Given the description of an element on the screen output the (x, y) to click on. 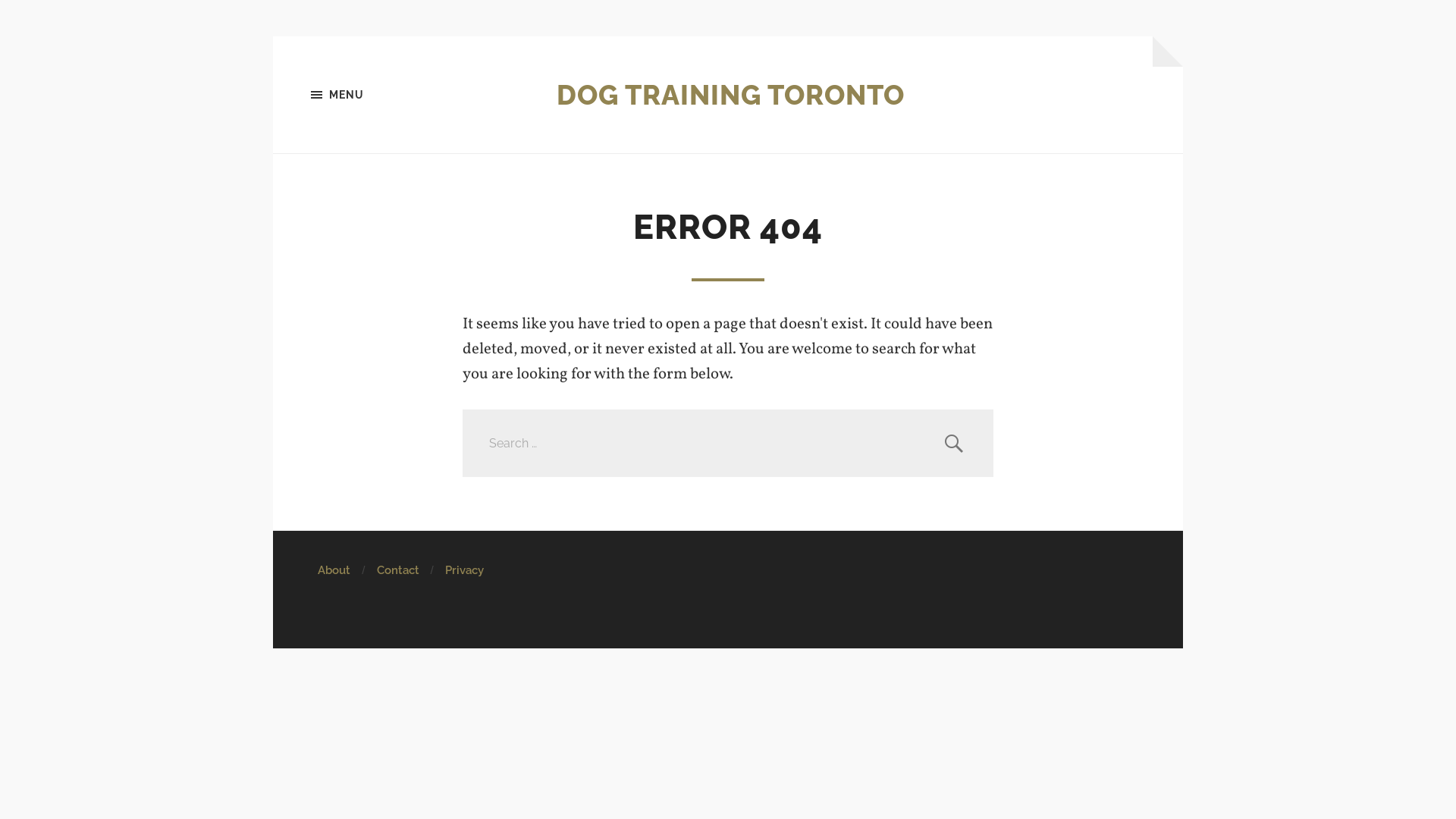
Search Element type: text (953, 442)
About Element type: text (333, 570)
Contact Element type: text (397, 570)
Privacy Element type: text (464, 570)
DOG TRAINING TORONTO Element type: text (730, 94)
MENU Element type: text (386, 94)
